Given the description of an element on the screen output the (x, y) to click on. 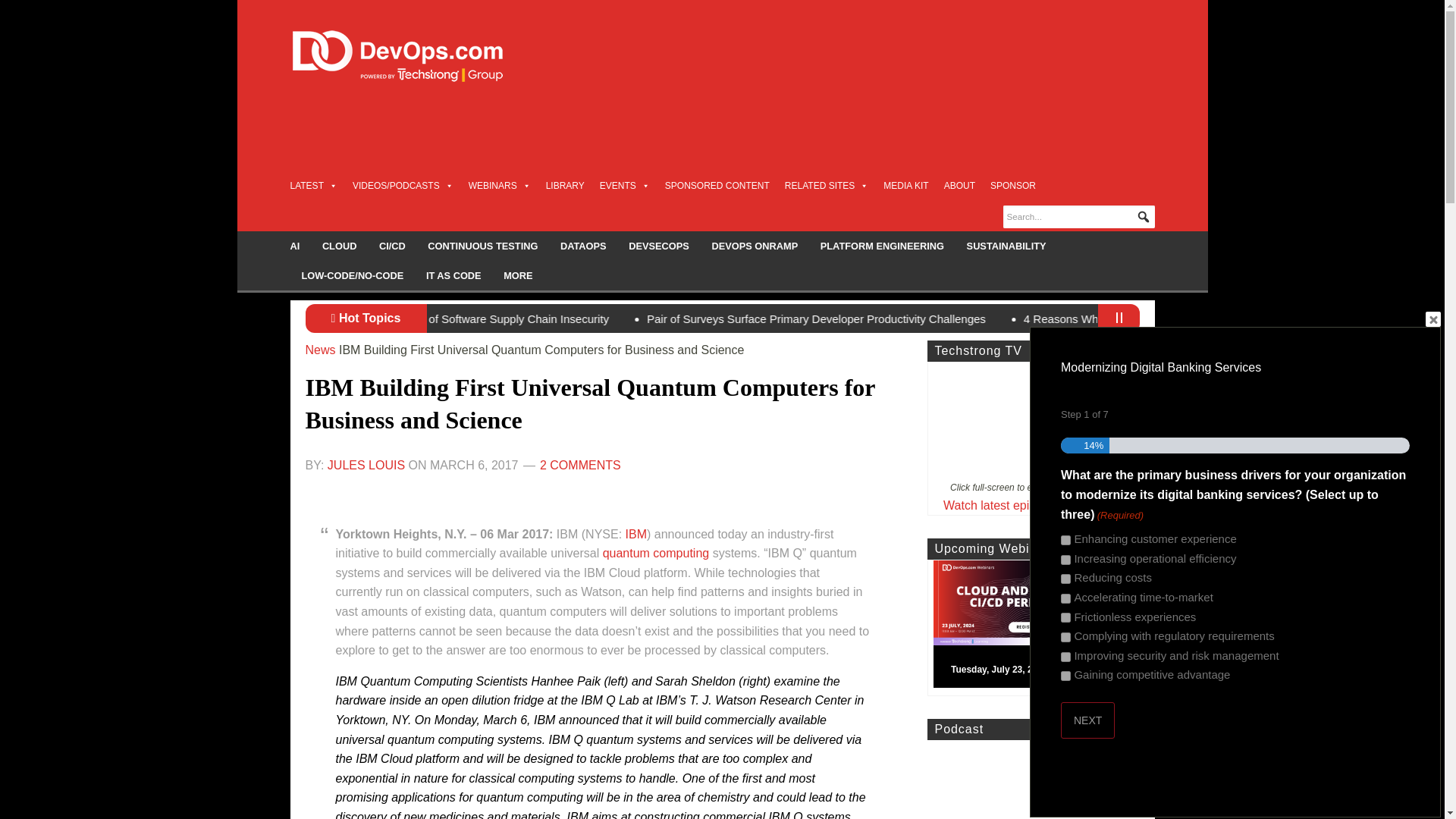
Next (1088, 719)
Tuesday, July 23, 2024 - 11:00 am EDT (1038, 627)
LATEST (312, 185)
Increasing operational efficiency (1065, 560)
Gaining competitive advantage (1065, 675)
AI-Powered Solutions for Azure DevOps Pipelines (547, 318)
Reducing costs (1065, 578)
Frictionless experiences (1065, 617)
Improving security and risk management (1065, 656)
Enhancing customer experience (1065, 540)
DEVOPS.COM (414, 56)
Complying with regulatory requirements (1065, 637)
3rd party ad content (878, 136)
Accelerating time-to-market (1065, 598)
